Given the description of an element on the screen output the (x, y) to click on. 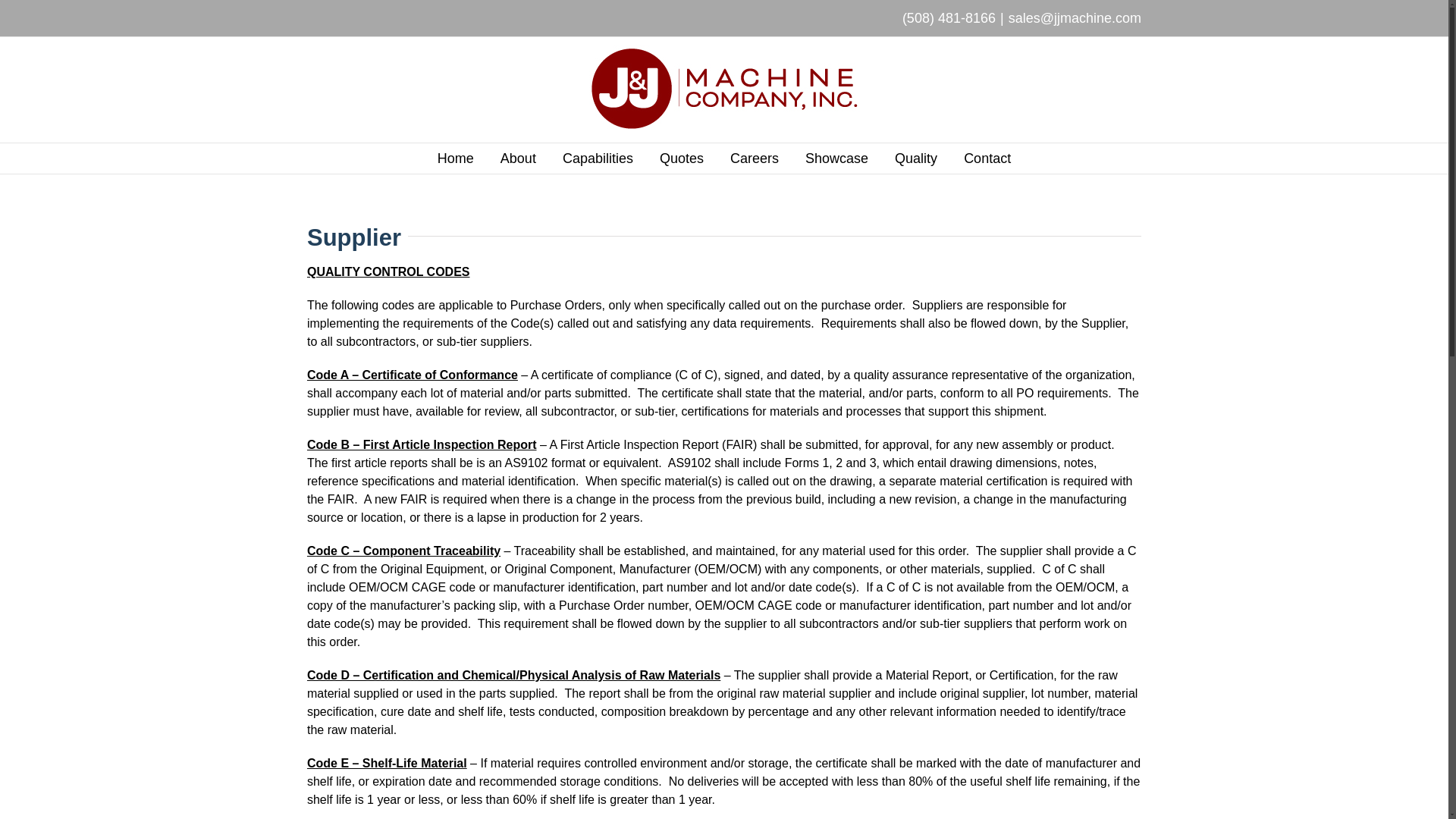
Home (456, 158)
Careers (754, 158)
Quality (916, 158)
Quotes (681, 158)
About (517, 158)
Capabilities (597, 158)
Showcase (836, 158)
Contact (986, 158)
